Given the description of an element on the screen output the (x, y) to click on. 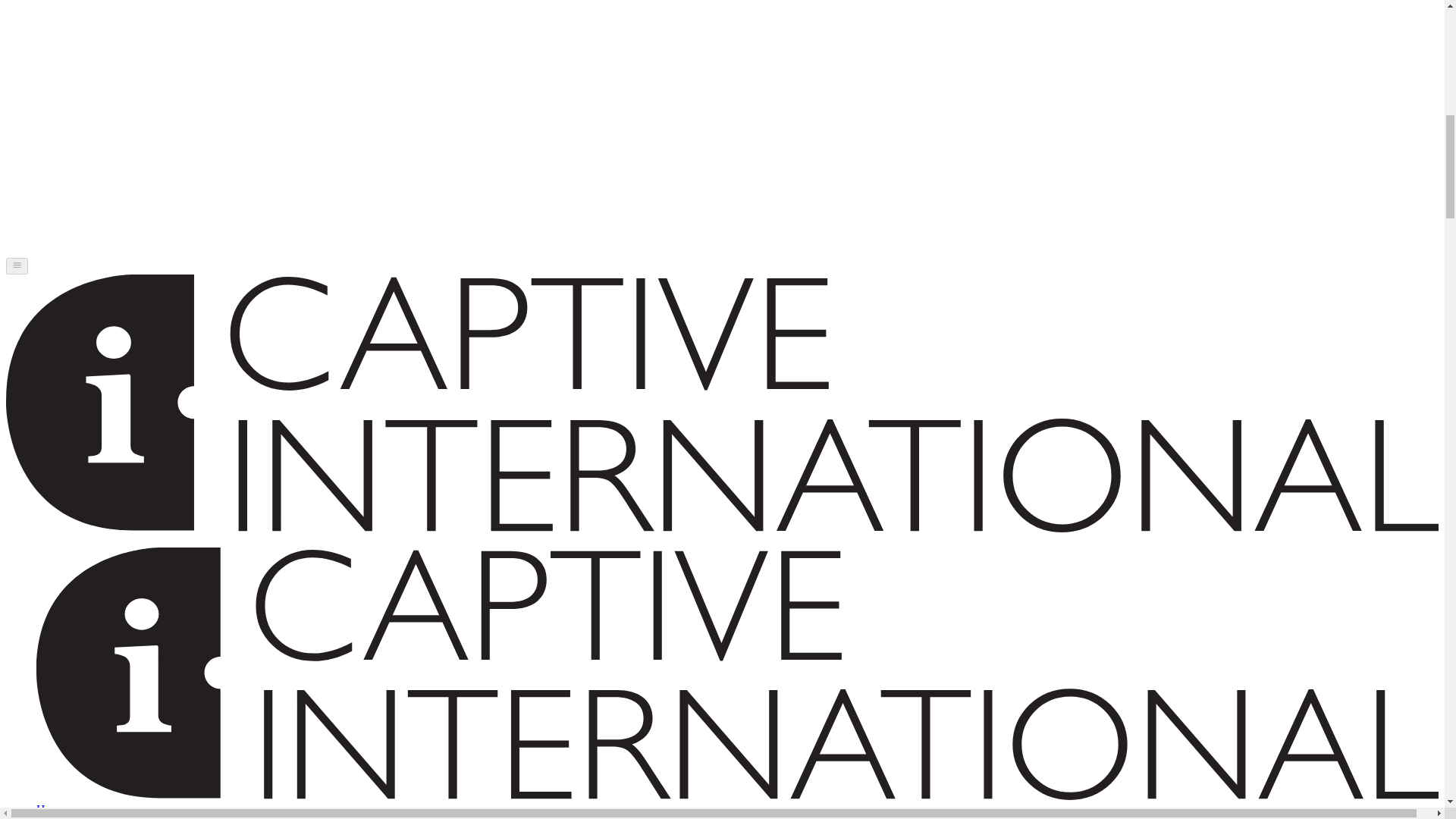
News (50, 817)
Home (50, 809)
